Given the description of an element on the screen output the (x, y) to click on. 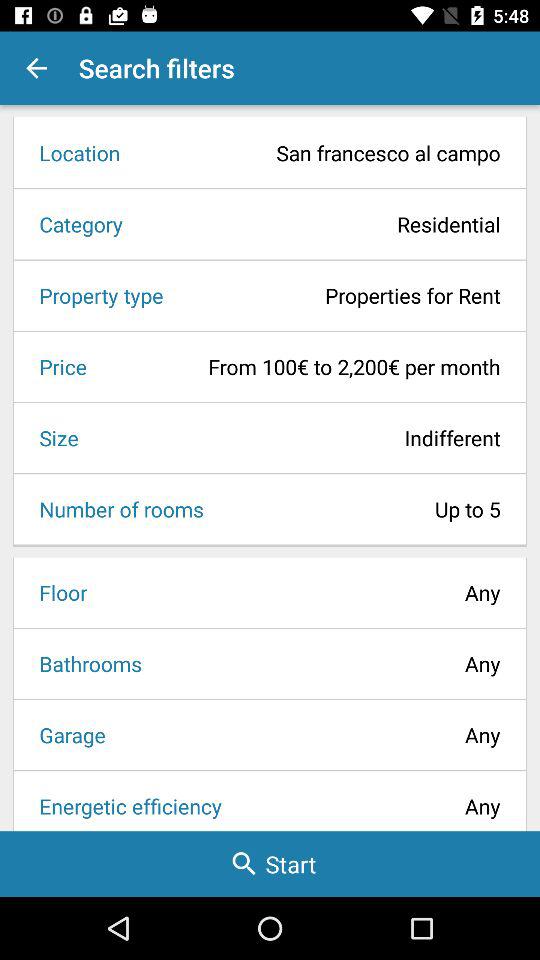
turn off the item to the left of the residential item (74, 224)
